Given the description of an element on the screen output the (x, y) to click on. 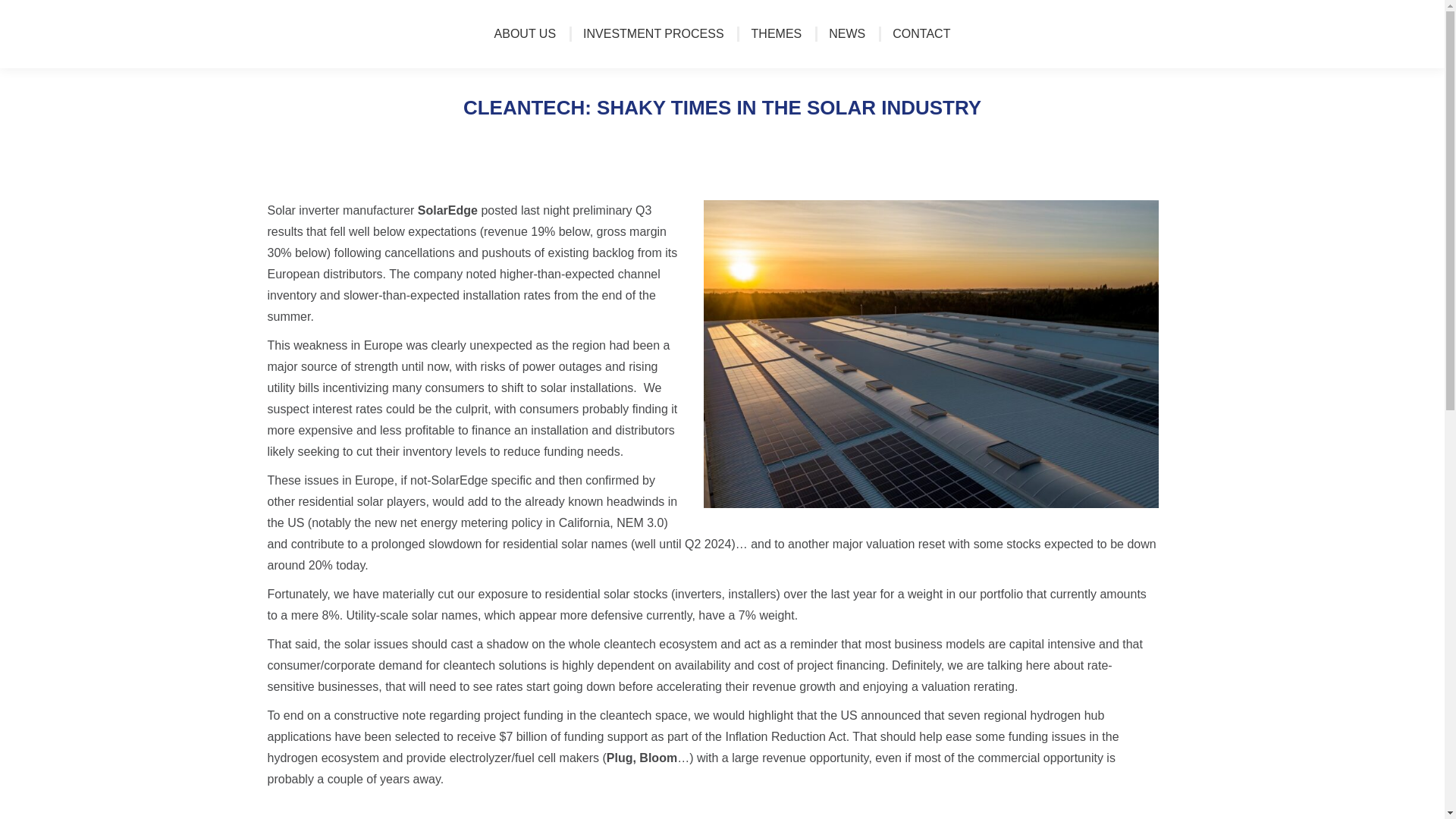
THEMES (776, 33)
INVESTMENT PROCESS (652, 33)
CONTACT (921, 33)
ABOUT US (525, 33)
NEWS (846, 33)
